Given the description of an element on the screen output the (x, y) to click on. 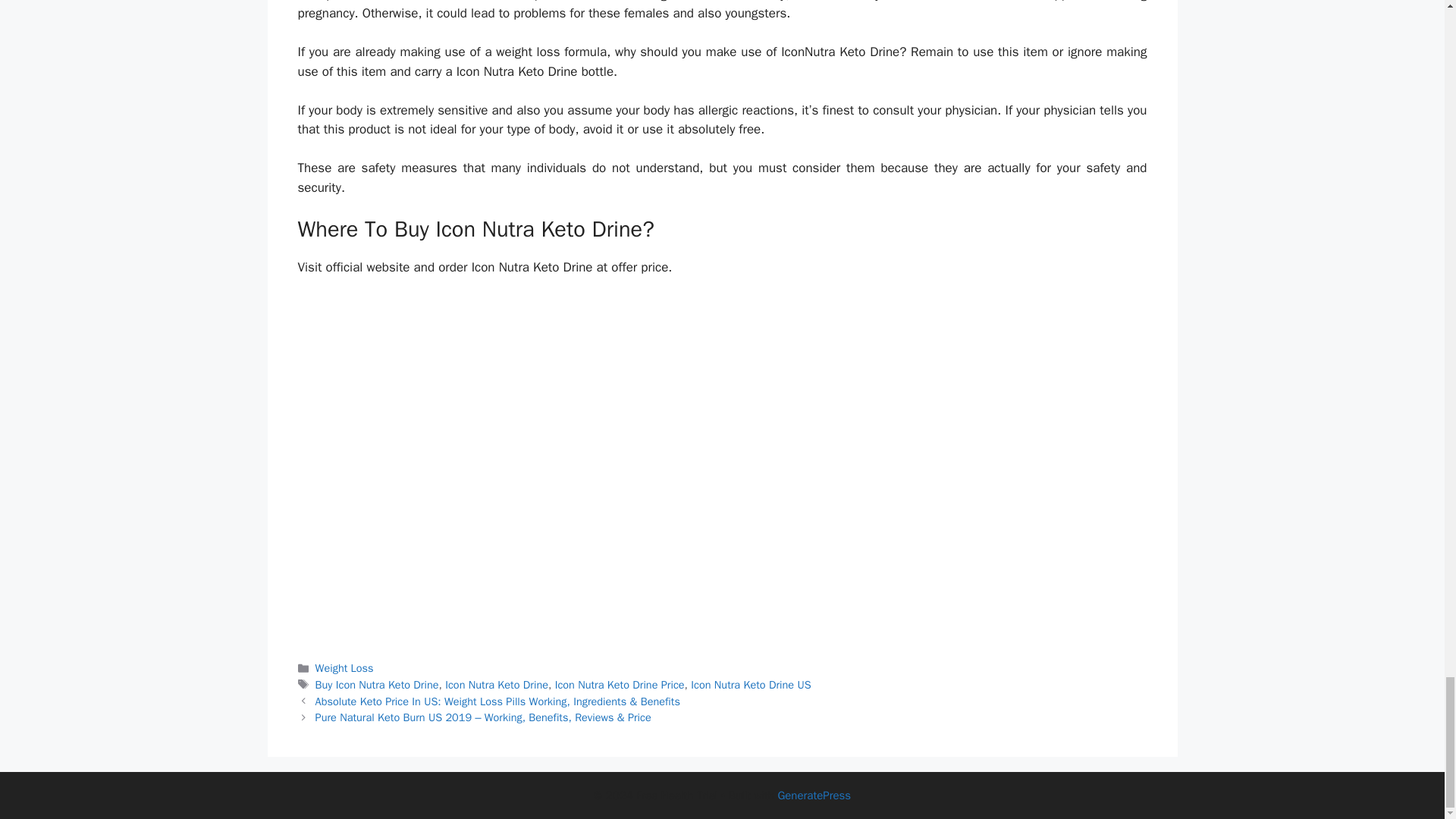
Buy Icon Nutra Keto Drine (377, 684)
Weight Loss (344, 667)
Icon Nutra Keto Drine (496, 684)
Icon Nutra Keto Drine Price (619, 684)
GeneratePress (813, 795)
Icon Nutra Keto Drine US (750, 684)
